Given the description of an element on the screen output the (x, y) to click on. 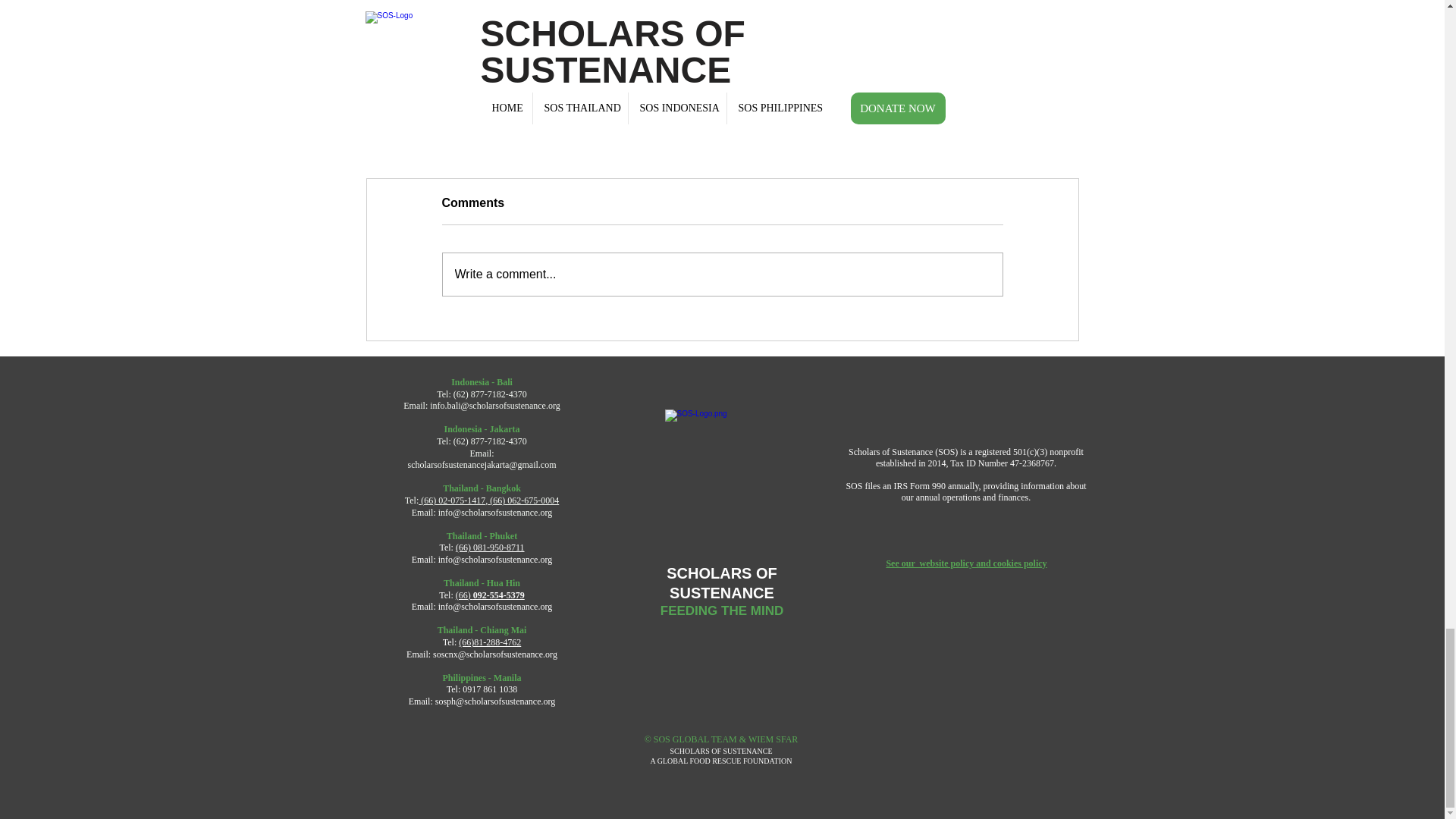
Post not marked as liked (558, 124)
0 (435, 124)
0 (681, 124)
